Given the description of an element on the screen output the (x, y) to click on. 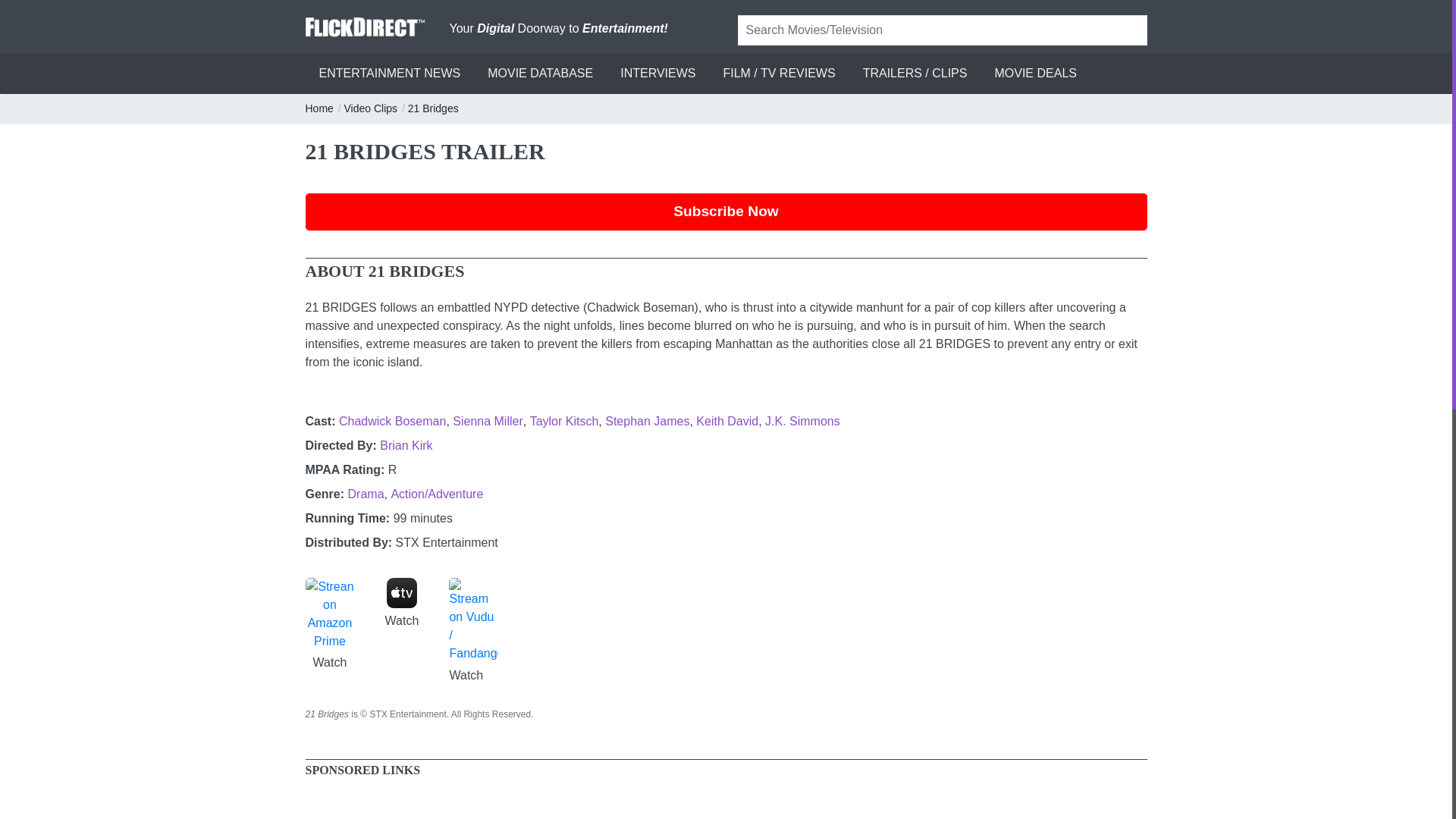
Film Clips (370, 108)
INTERVIEWS (658, 73)
MOVIE DEALS (1034, 73)
ENTERTAINMENT NEWS (389, 73)
Movie Deals (1034, 73)
MOVIE DATABASE (540, 73)
Sienna Miller (487, 420)
Chadwick Boseman (392, 420)
Video Clips (370, 108)
21 Bridges (433, 108)
